Given the description of an element on the screen output the (x, y) to click on. 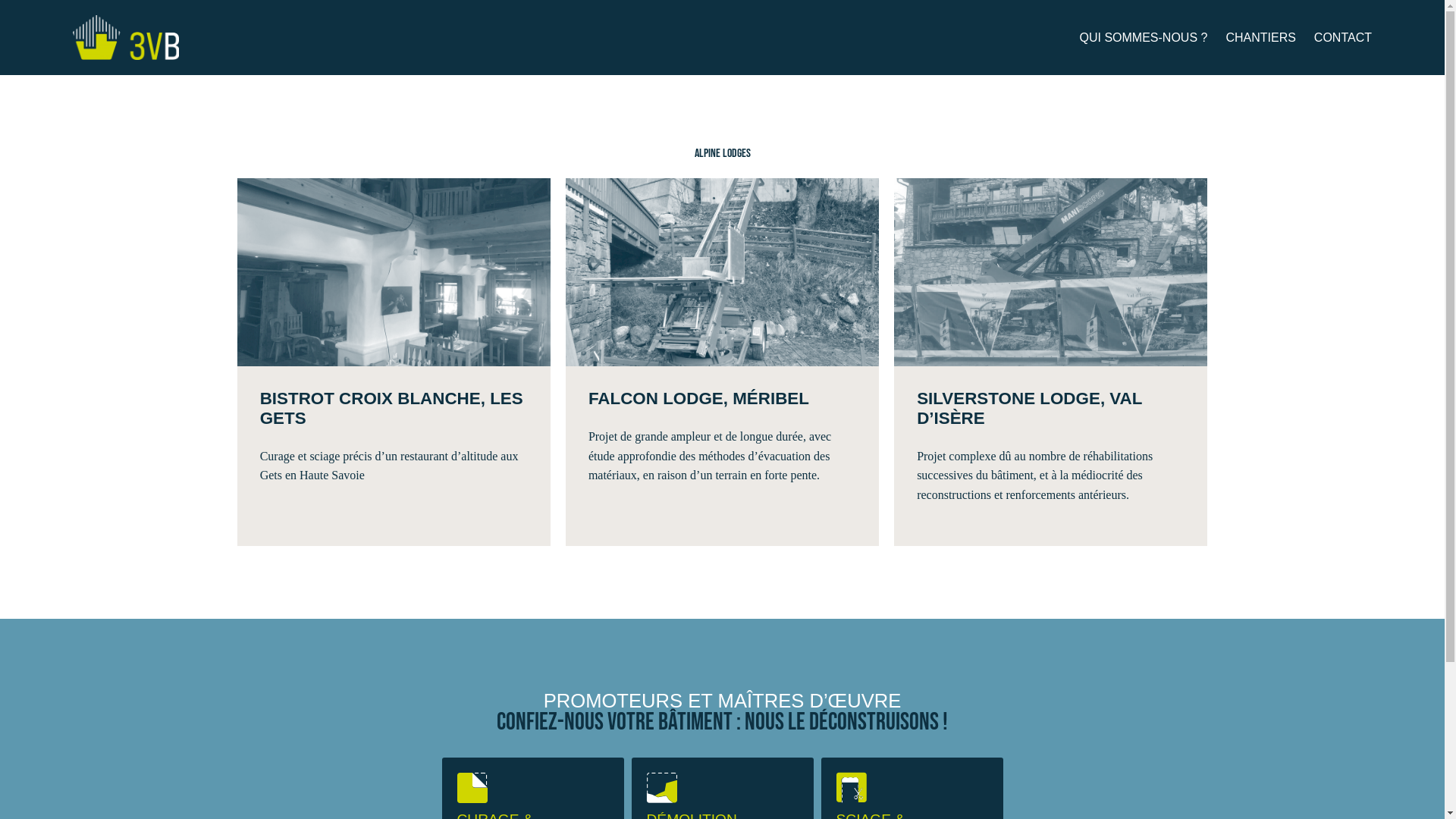
CONTACT Element type: text (1342, 37)
QUI SOMMES-NOUS ? Element type: text (1143, 37)
BISTROT CROIX BLANCHE, LES GETS Element type: text (393, 408)
CHANTIERS Element type: text (1260, 37)
